Given the description of an element on the screen output the (x, y) to click on. 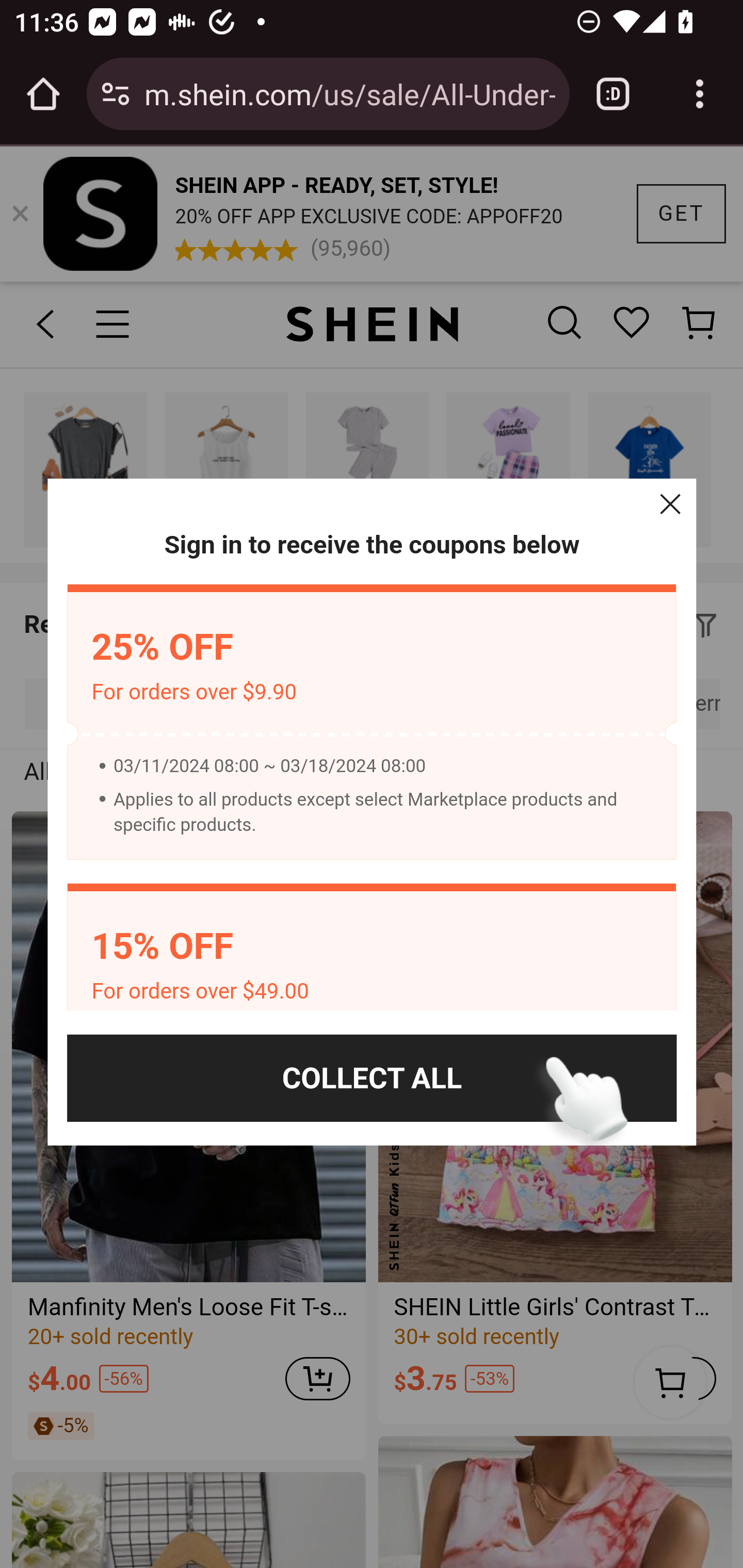
Open the home page (43, 93)
Connection is secure (115, 93)
Switch or close tabs (612, 93)
Customize and control Google Chrome (699, 93)
Close (669, 503)
COLLECT ALL (371, 1077)
